Given the description of an element on the screen output the (x, y) to click on. 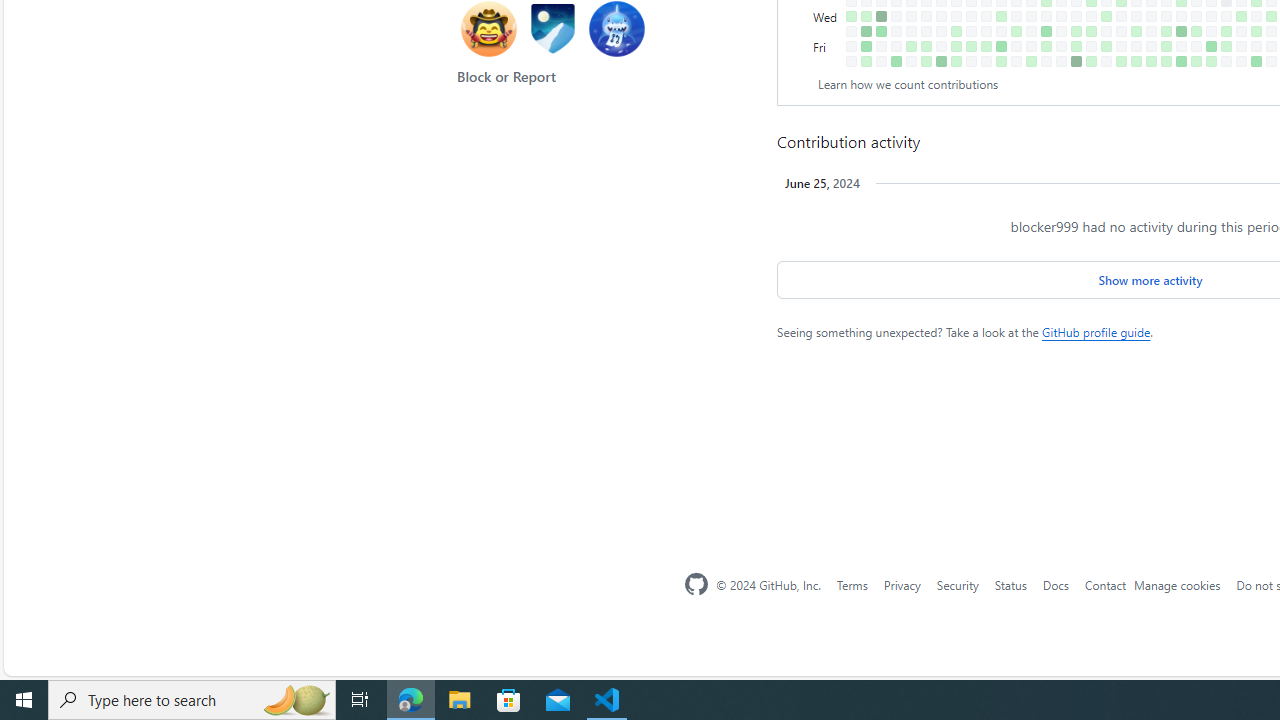
No contributions on February 1st. (911, 30)
No contributions on May 15th. (1136, 16)
No contributions on April 24th. (1090, 16)
6 contributions on June 8th. (1181, 61)
No contributions on January 20th. (881, 61)
Security (957, 584)
6 contributions on January 12th. (866, 46)
2 contributions on January 3rd. (851, 16)
No contributions on June 29th. (1226, 61)
Status (1010, 584)
Saturday (827, 61)
No contributions on July 20th. (1271, 61)
No contributions on June 7th. (1181, 46)
Contact (1105, 584)
12 contributions on April 20th. (1076, 61)
